Given the description of an element on the screen output the (x, y) to click on. 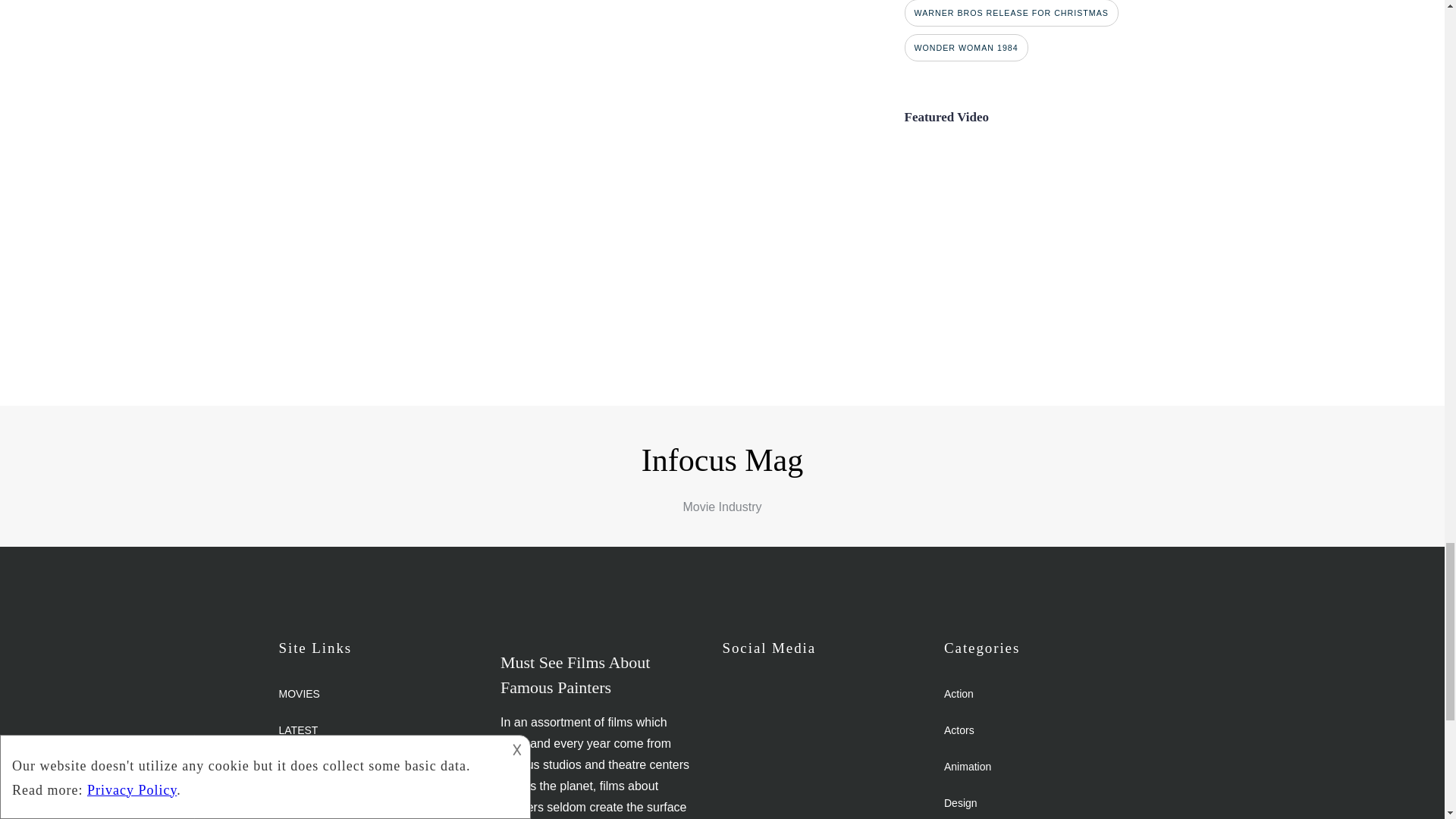
YouTube video player (1040, 227)
